Given the description of an element on the screen output the (x, y) to click on. 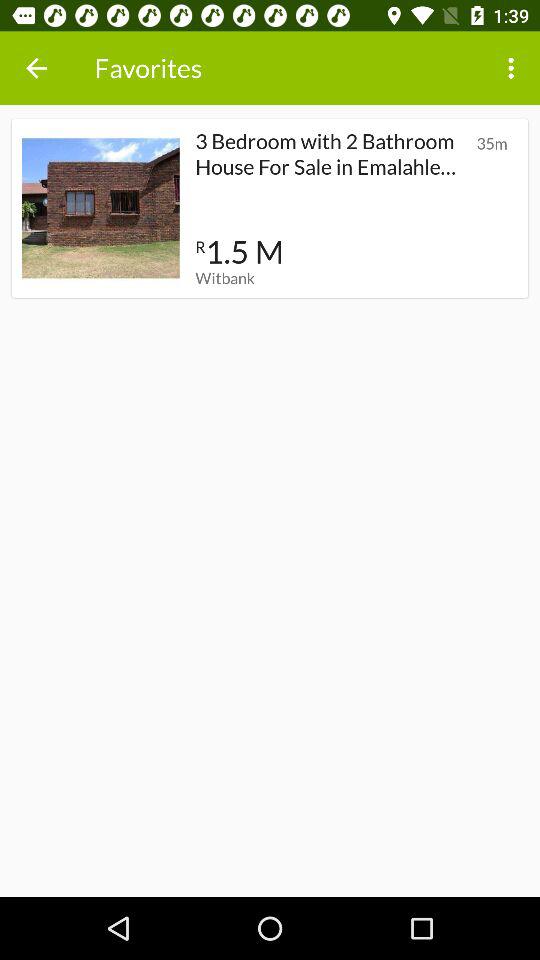
press icon to the left of favorites (36, 68)
